Given the description of an element on the screen output the (x, y) to click on. 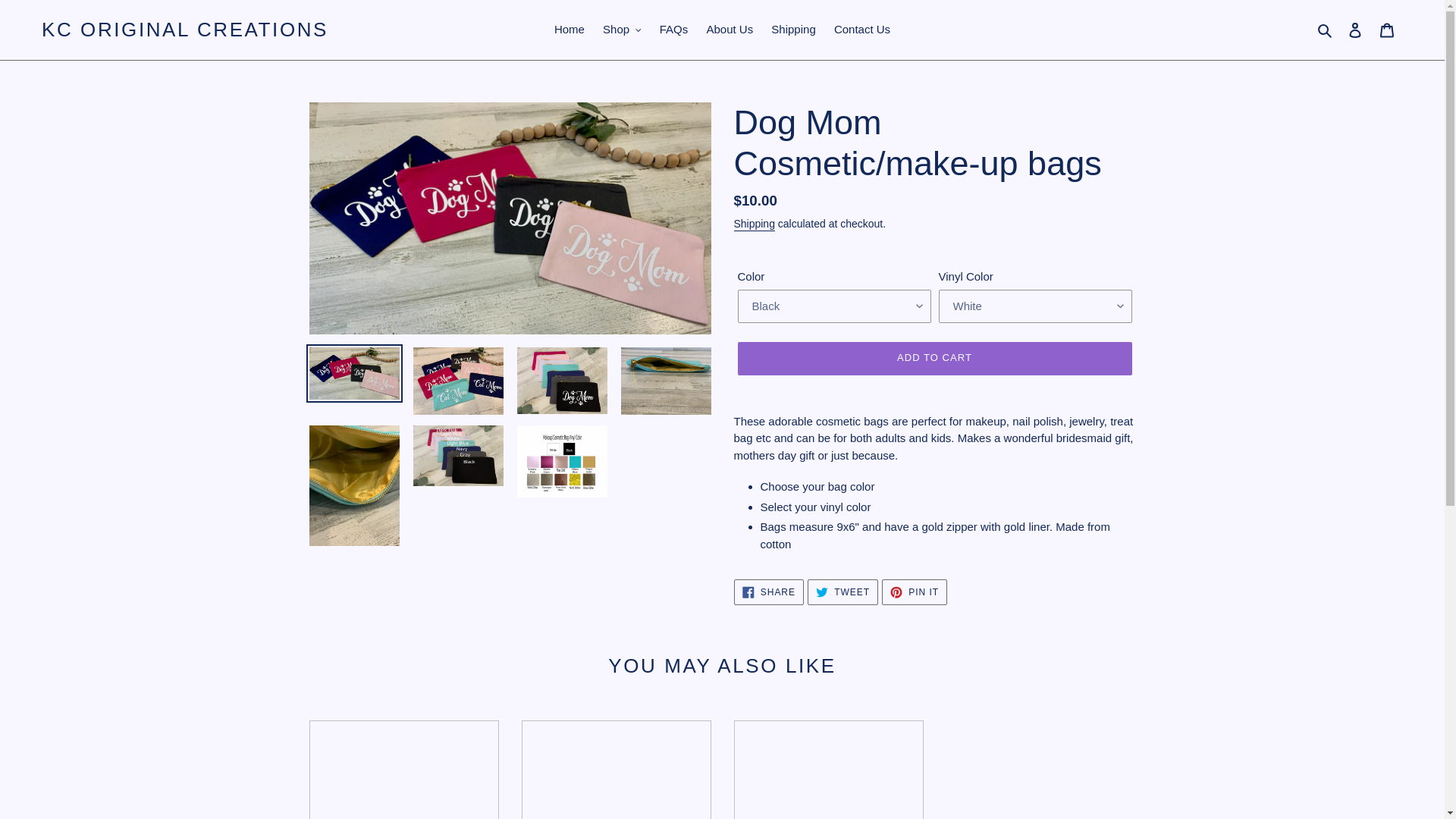
Home (569, 29)
Shop (622, 29)
Contact Us (862, 29)
Cart (1387, 29)
Log in (1355, 29)
Shipping (792, 29)
FAQs (673, 29)
About Us (729, 29)
KC ORIGINAL CREATIONS (185, 29)
Search (1326, 29)
